Given the description of an element on the screen output the (x, y) to click on. 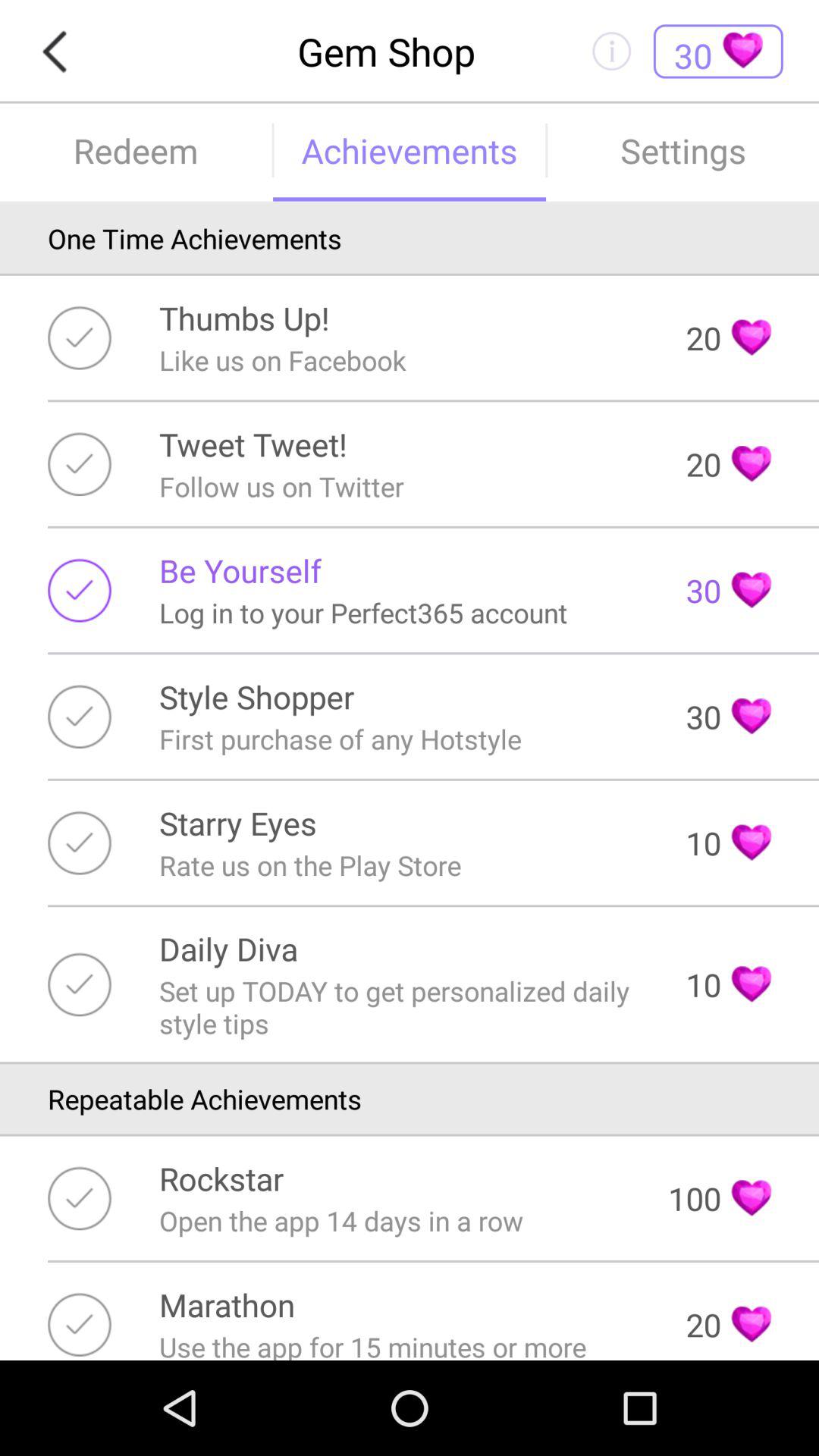
turn off the icon to the left of 20 icon (252, 443)
